Given the description of an element on the screen output the (x, y) to click on. 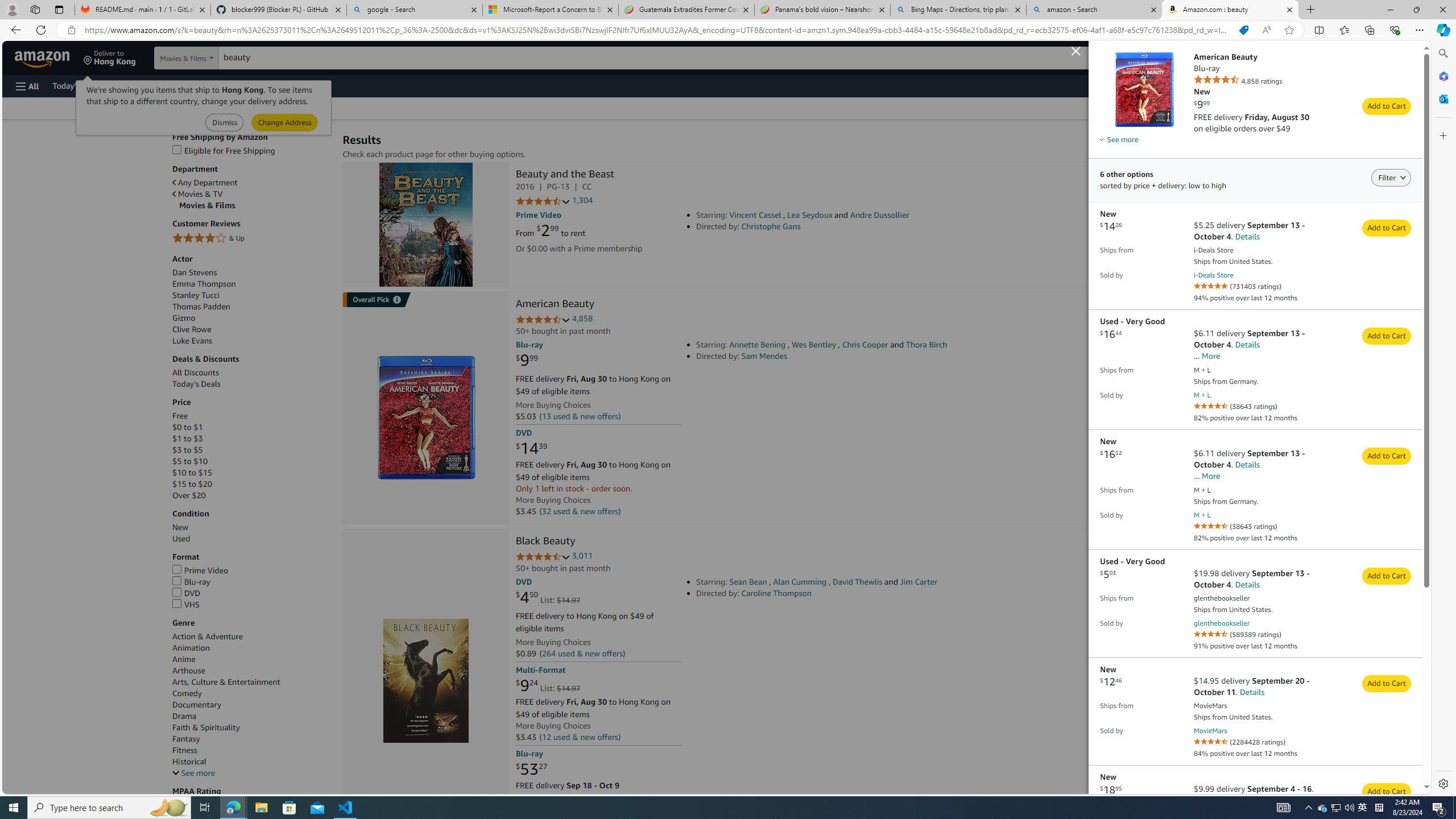
Address and search bar (658, 29)
Starring: Vincent Cassel , Lea Seydoux and Andre Dussollier (854, 215)
Beauty and the Beast (564, 174)
Search Amazon (655, 57)
Caroline Thompson (775, 593)
Movies & Films (255, 205)
Thora Birch (926, 344)
$9.24 List: $14.97 (547, 685)
Emma Thompson (251, 284)
$3 to $5 (186, 449)
1,304 (582, 200)
Directed by: Christophe Gans (854, 226)
aod-close (1077, 49)
Drama (183, 715)
Multi-Format (540, 670)
